Given the description of an element on the screen output the (x, y) to click on. 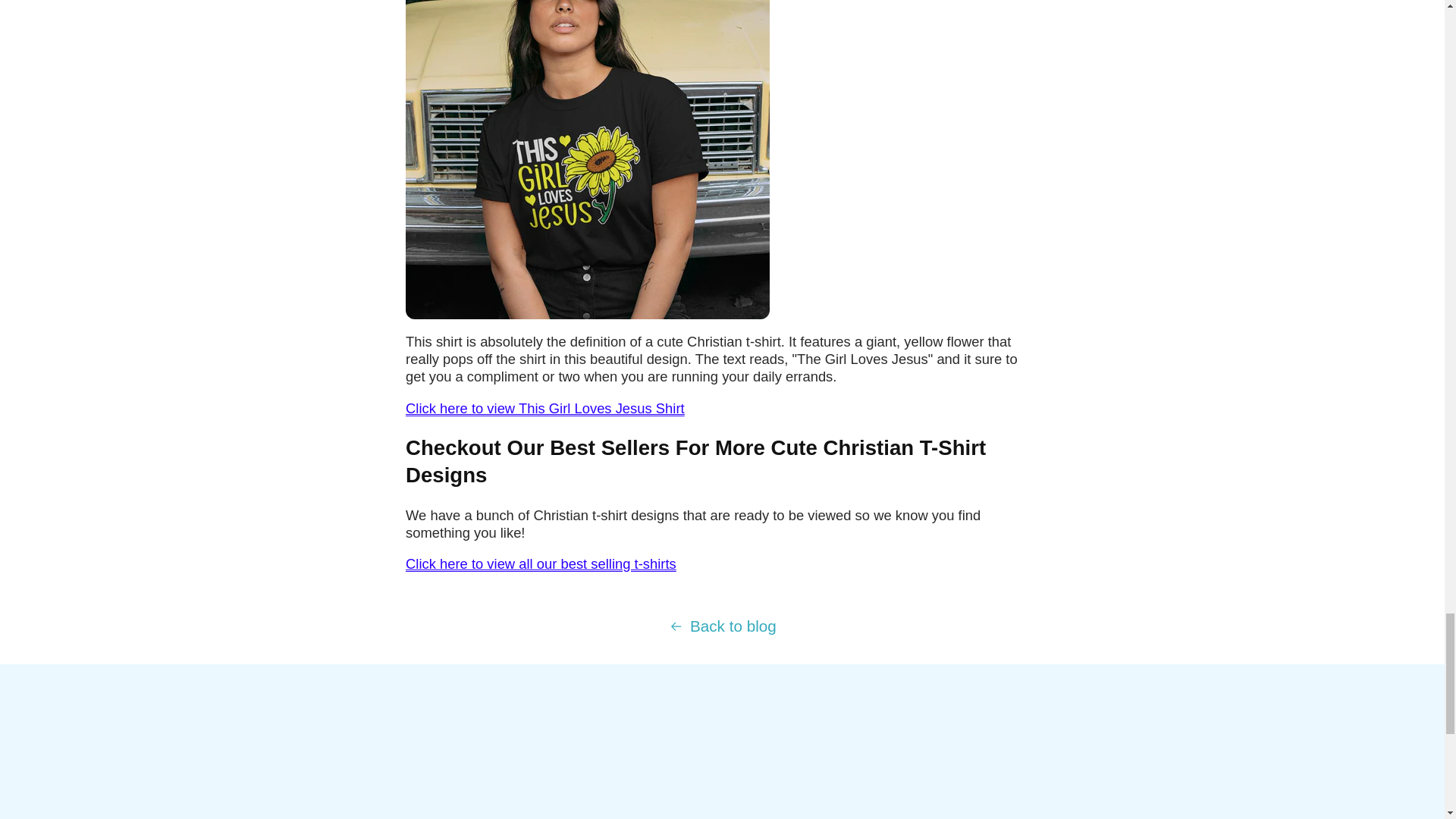
this girl loves jesus christian t-shirt (545, 408)
best selling christian t-shirts (541, 563)
